Given the description of an element on the screen output the (x, y) to click on. 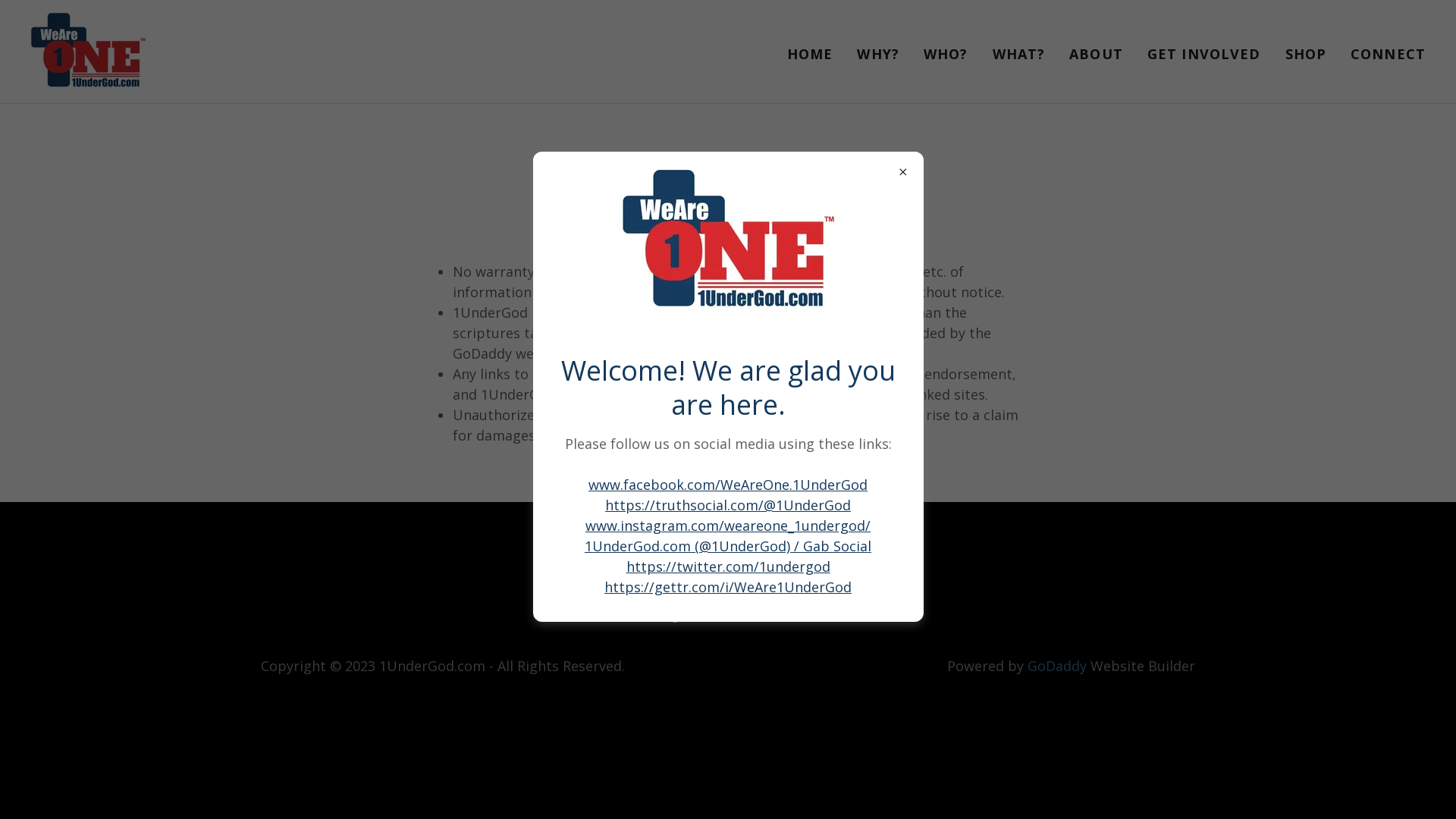
www.instagram.com/weareone_1undergod/ Element type: text (727, 525)
HOME Element type: text (809, 52)
WHO? Element type: text (945, 52)
GET INVOLVED Element type: text (1203, 52)
SHOP Element type: text (1305, 52)
GoDaddy Element type: text (1056, 665)
https://gettr.com/i/WeAre1UnderGod Element type: text (727, 586)
www.facebook.com/WeAreOne.1UnderGod Element type: text (727, 484)
WHAT? Element type: text (1019, 52)
ABOUT Element type: text (1095, 52)
https://truthsocial.com/@1UnderGod Element type: text (727, 504)
https://twitter.com/1undergod Element type: text (728, 566)
1UnderGod.com (@1UnderGod) / Gab Social Element type: text (727, 545)
CONNECT Element type: text (1388, 52)
PRIVACY POLICY Element type: text (625, 559)
1UnderGod.com Element type: hover (88, 49)
TERMS AND CONDITIONS Element type: text (795, 559)
WHY? Element type: text (877, 52)
